Given the description of an element on the screen output the (x, y) to click on. 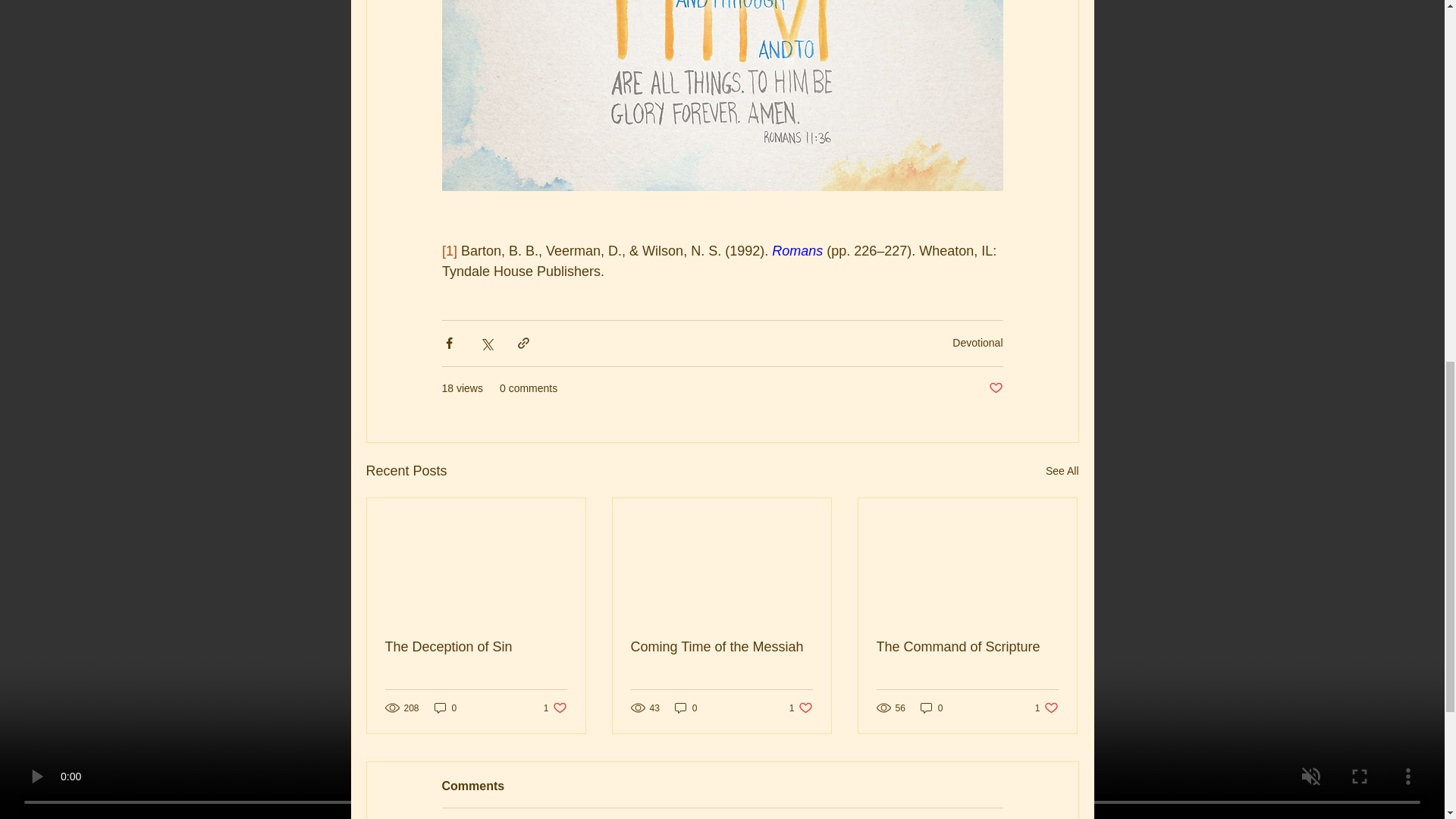
The Deception of Sin (476, 647)
0 (555, 707)
Romans (685, 707)
See All (796, 250)
Devotional (1061, 471)
Coming Time of the Messiah (977, 342)
Post not marked as liked (721, 647)
0 (995, 388)
